Given the description of an element on the screen output the (x, y) to click on. 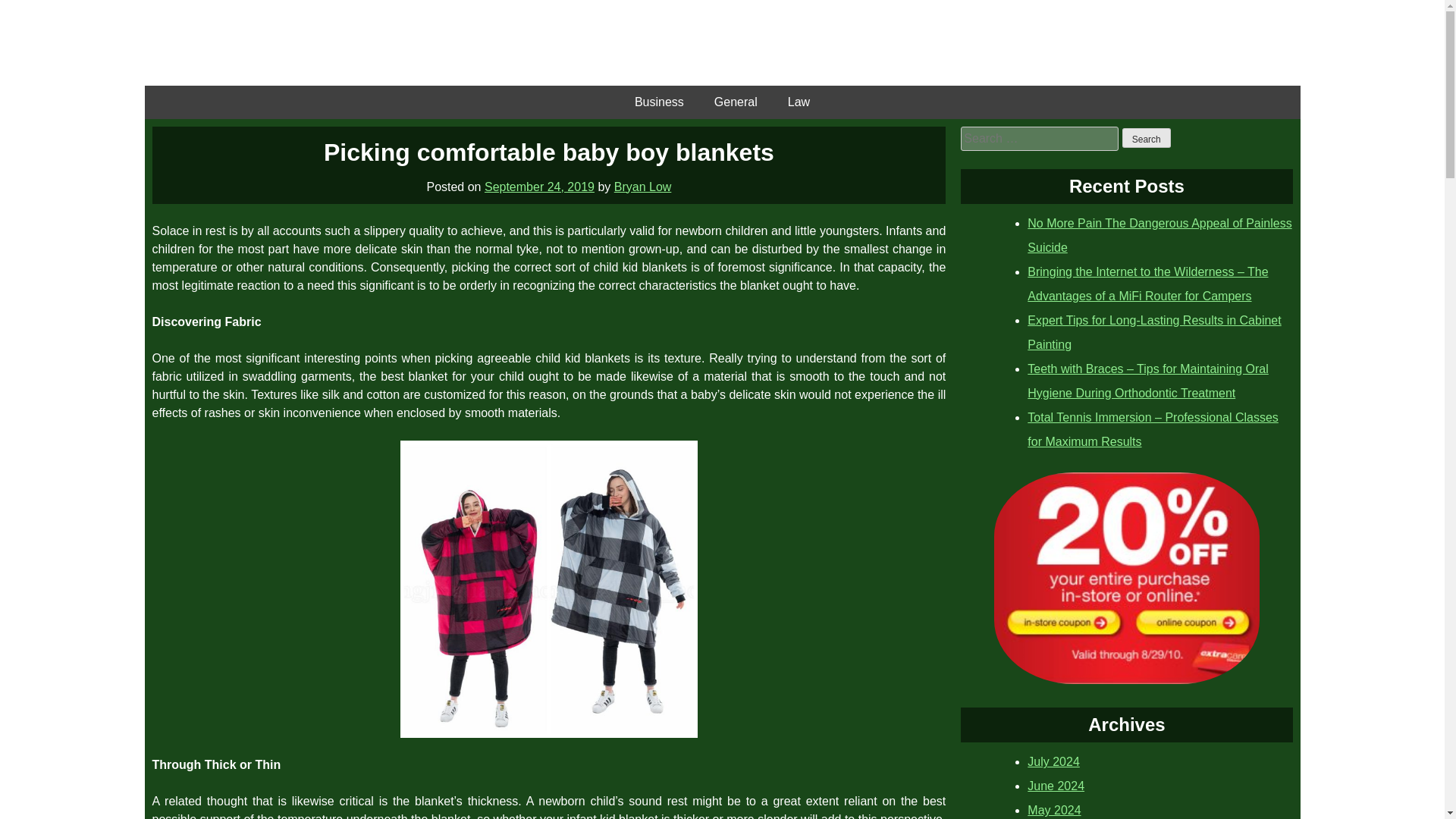
Expert Tips for Long-Lasting Results in Cabinet Painting (1154, 332)
Search (1146, 137)
June 2024 (1055, 785)
Search (1146, 137)
Bryan Low (642, 186)
September 24, 2019 (539, 186)
Search (1146, 137)
July 2024 (1053, 761)
Law (799, 101)
Business (659, 101)
General (735, 101)
No More Pain The Dangerous Appeal of Painless Suicide (1159, 235)
Hunting Ton Herald (722, 41)
May 2024 (1053, 809)
